Given the description of an element on the screen output the (x, y) to click on. 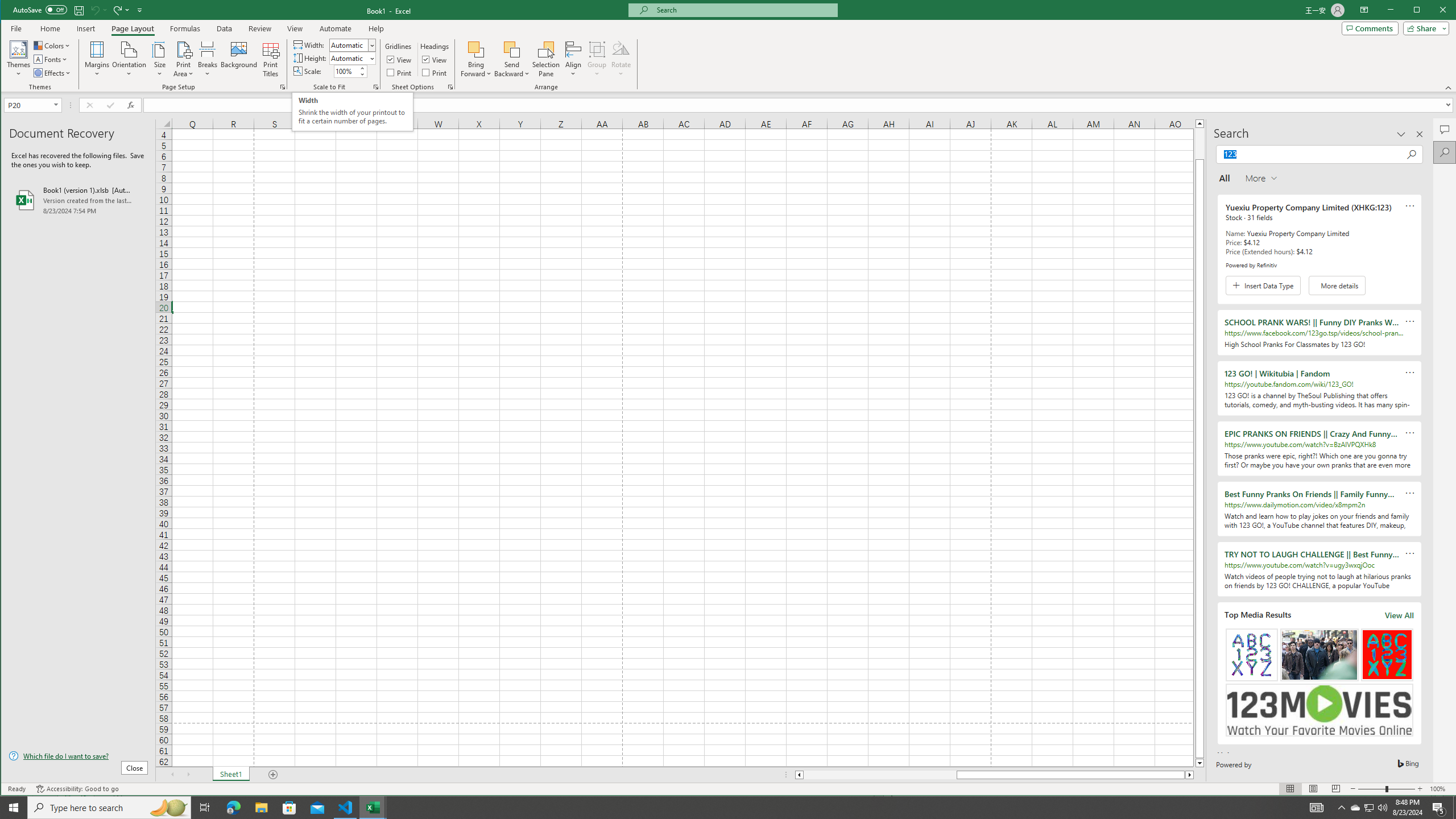
Start (13, 807)
Width (352, 44)
Microsoft Store (289, 807)
Notification Chevron (1341, 807)
Less (361, 73)
Page Setup (375, 86)
Show desktop (1454, 807)
File Explorer (261, 807)
Fonts (51, 59)
